Given the description of an element on the screen output the (x, y) to click on. 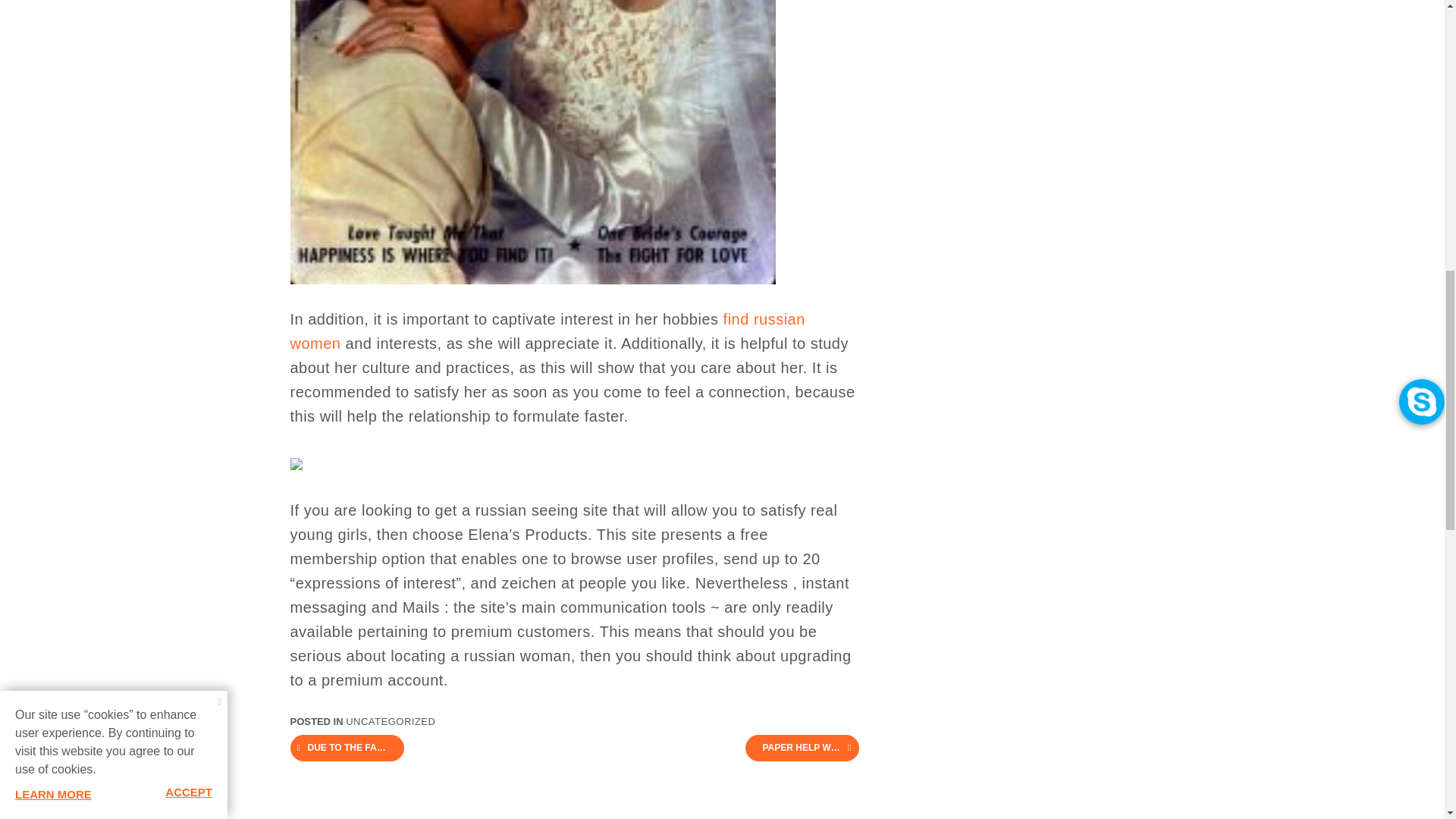
UNCATEGORIZED (390, 721)
find russian women (547, 331)
